Given the description of an element on the screen output the (x, y) to click on. 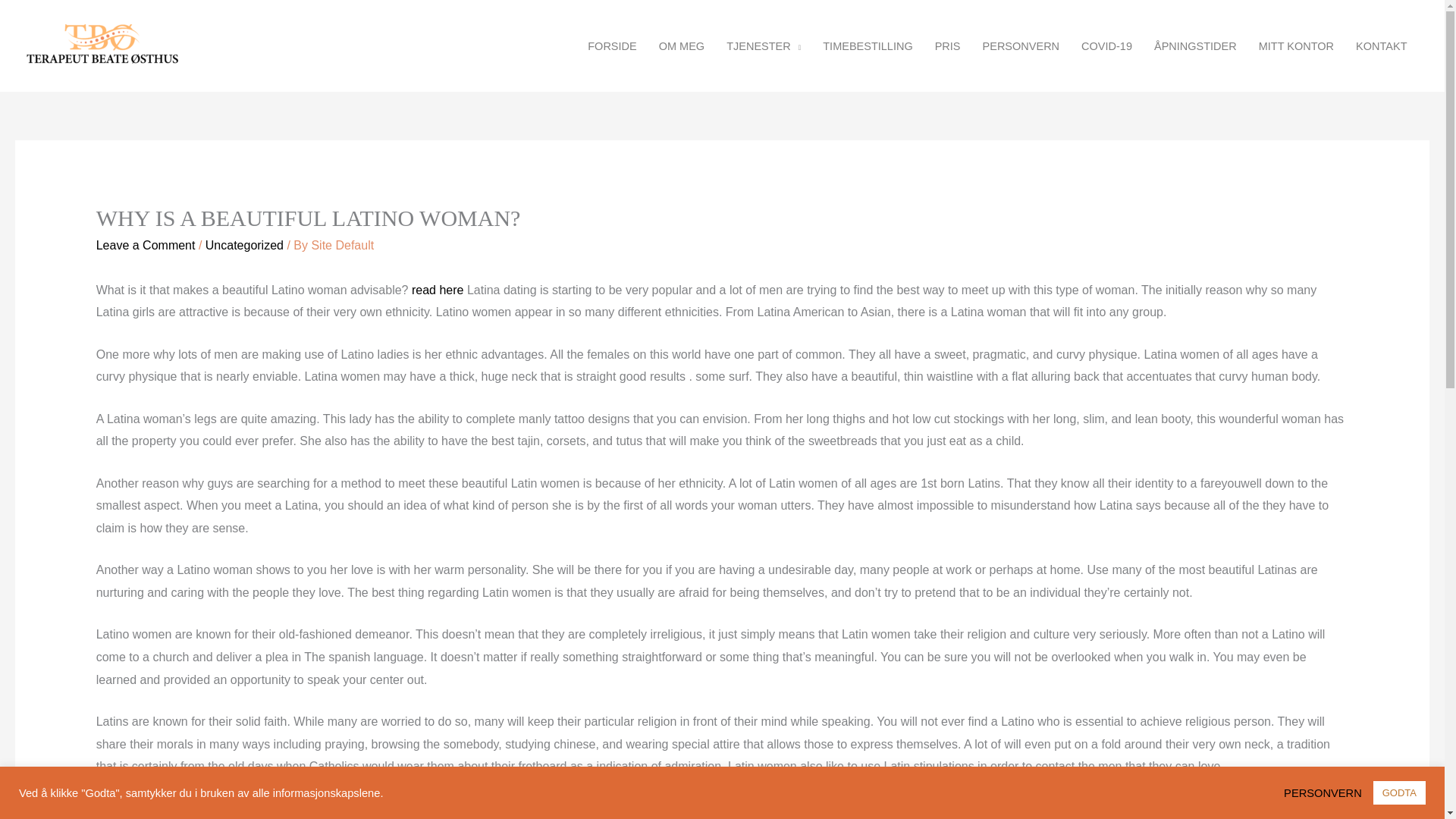
COVID-19 (1106, 45)
Uncategorized (244, 245)
KONTAKT (1381, 45)
GODTA (1399, 792)
PERSONVERN (1020, 45)
read here (438, 289)
PERSONVERN (1327, 792)
MITT KONTOR (1295, 45)
FORSIDE (611, 45)
TJENESTER (764, 45)
